Given the description of an element on the screen output the (x, y) to click on. 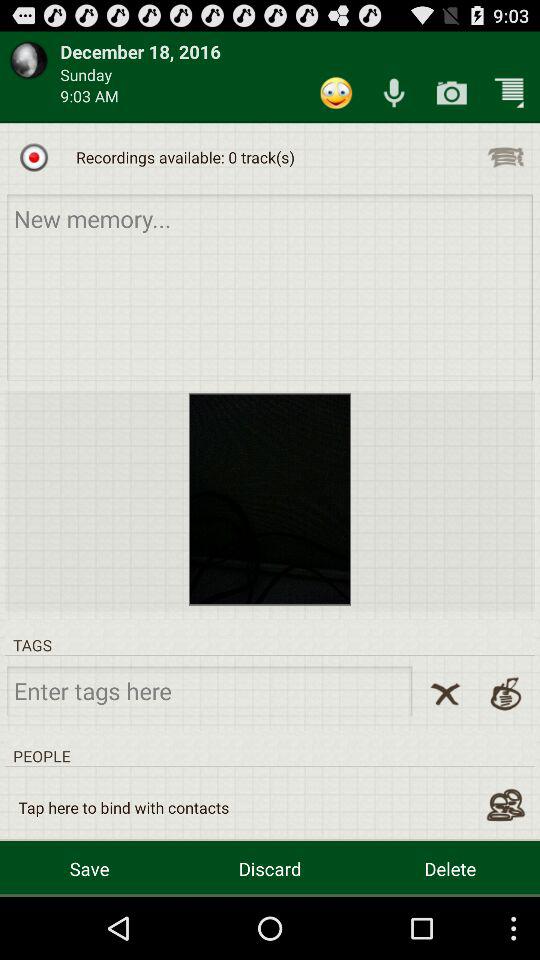
turn on tap here to (123, 807)
